Given the description of an element on the screen output the (x, y) to click on. 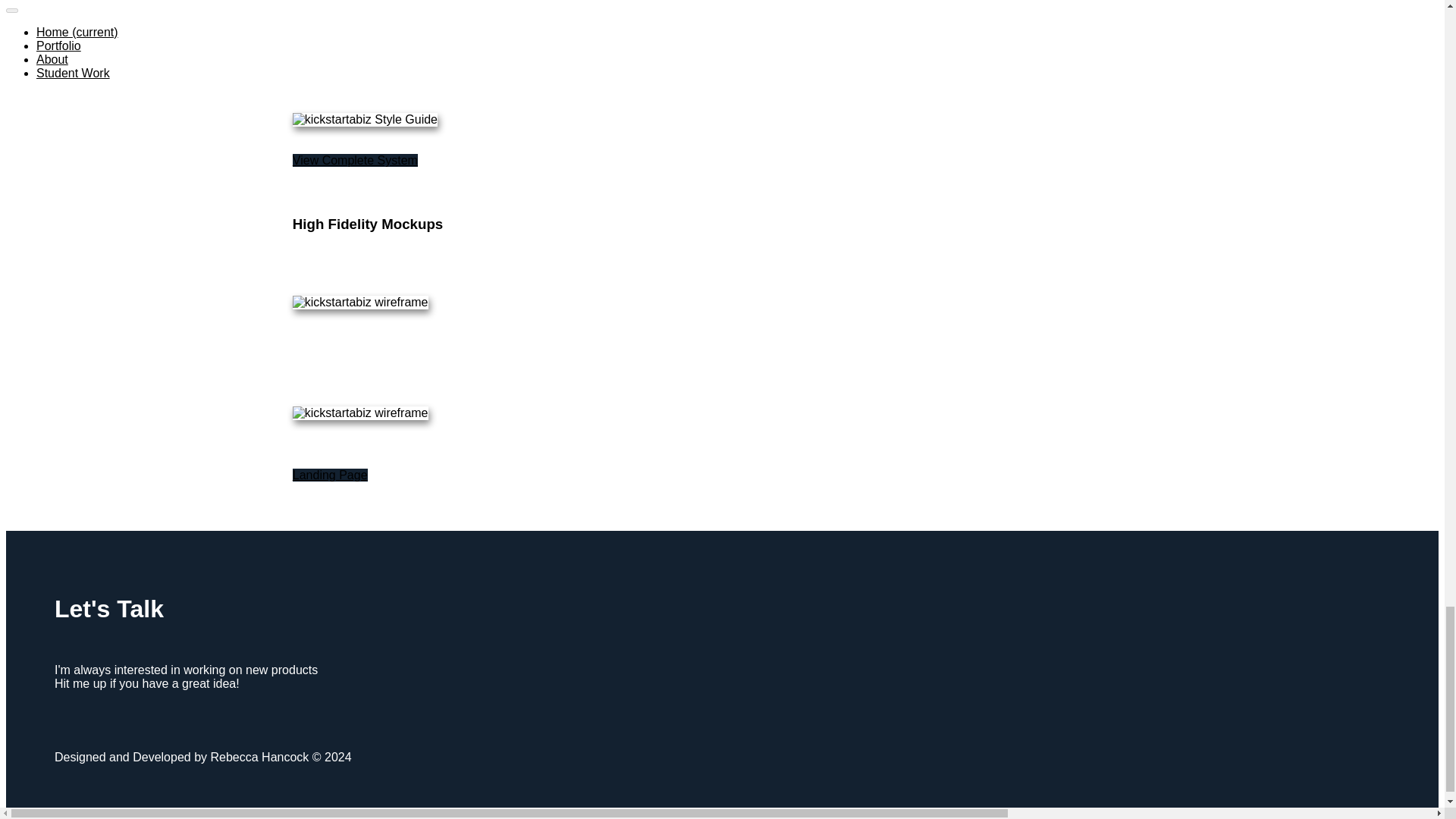
View Complete System (354, 160)
Landing Page (330, 474)
